Given the description of an element on the screen output the (x, y) to click on. 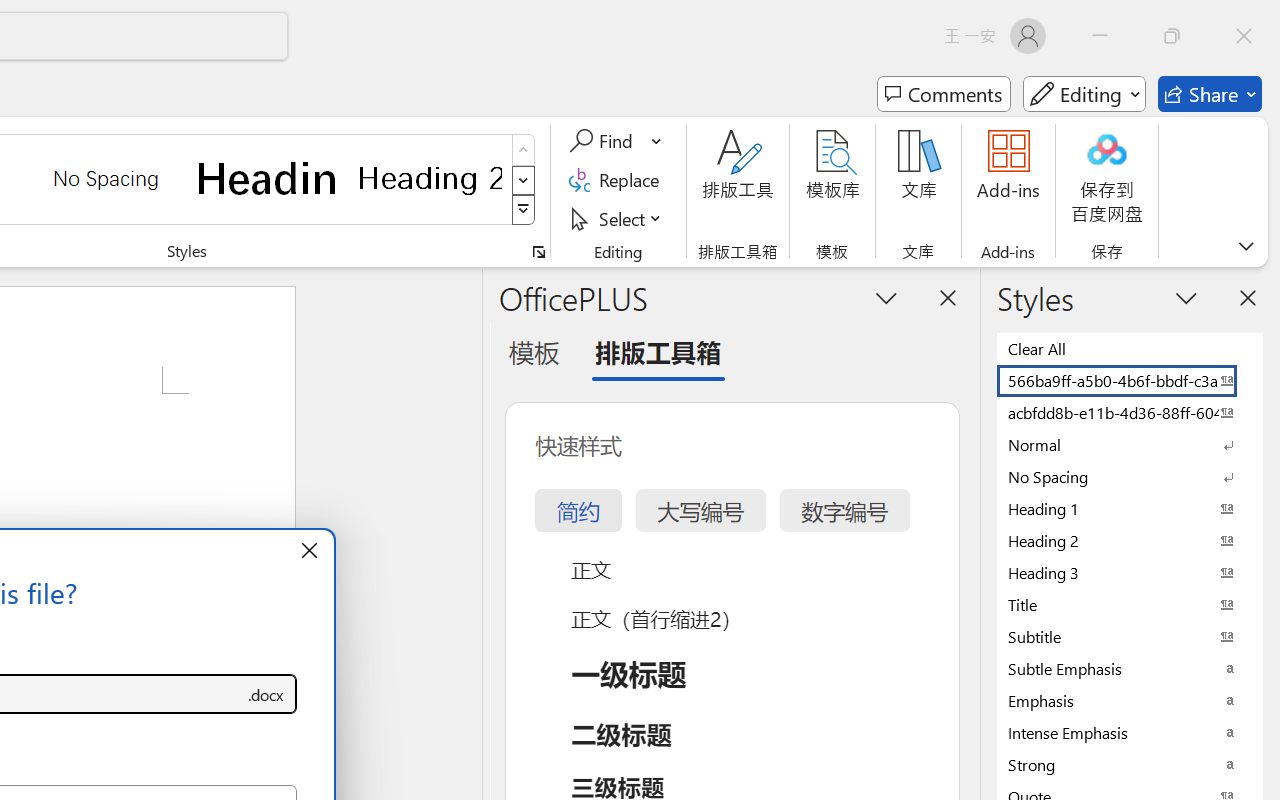
Find (616, 141)
Close (1244, 36)
Mode (1083, 94)
Normal (1130, 444)
Subtle Emphasis (1130, 668)
